Given the description of an element on the screen output the (x, y) to click on. 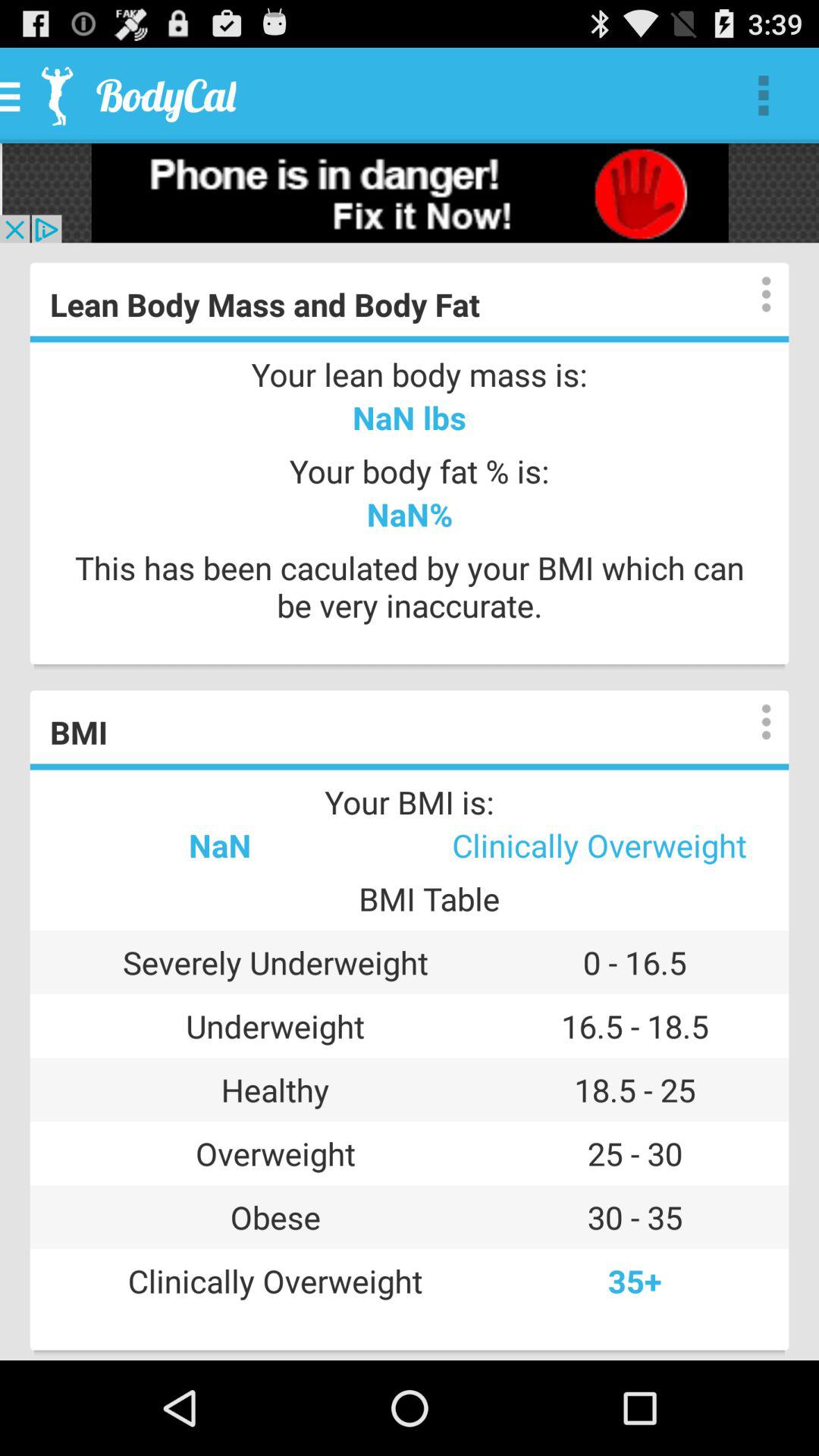
setting page (750, 294)
